Given the description of an element on the screen output the (x, y) to click on. 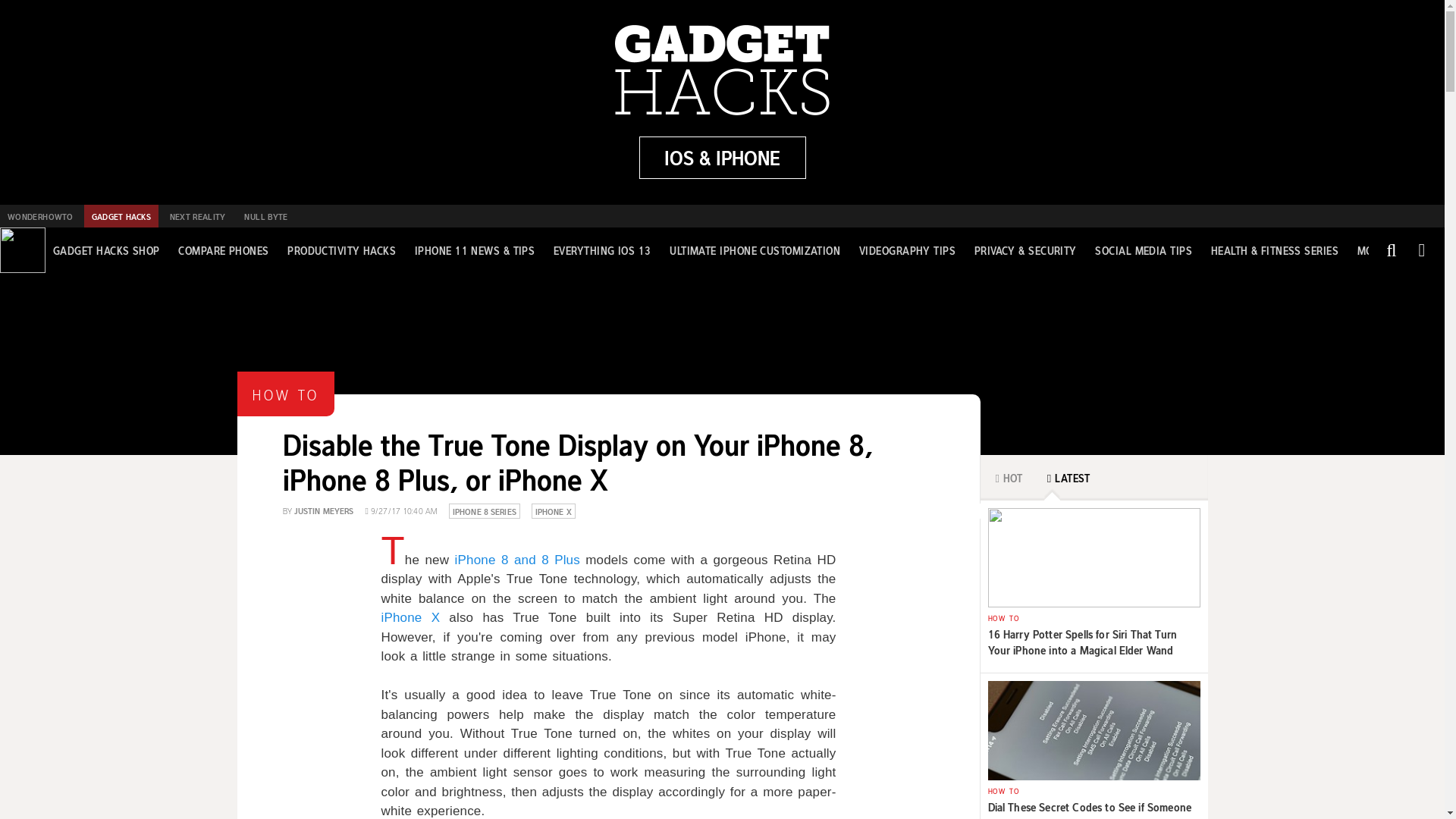
IPHONE 8 SERIES (484, 510)
ULTIMATE IPHONE CUSTOMIZATION (754, 249)
PRODUCTIVITY HACKS (341, 249)
WONDERHOWTO (40, 215)
GADGET HACKS (121, 215)
EVERYTHING IOS 13 (601, 249)
IPHONE X (553, 510)
COMPARE PHONES (222, 249)
JUSTIN MEYERS (323, 509)
Unchaining your iPhone with simple apps, tweaks, and hacks. (722, 157)
